Given the description of an element on the screen output the (x, y) to click on. 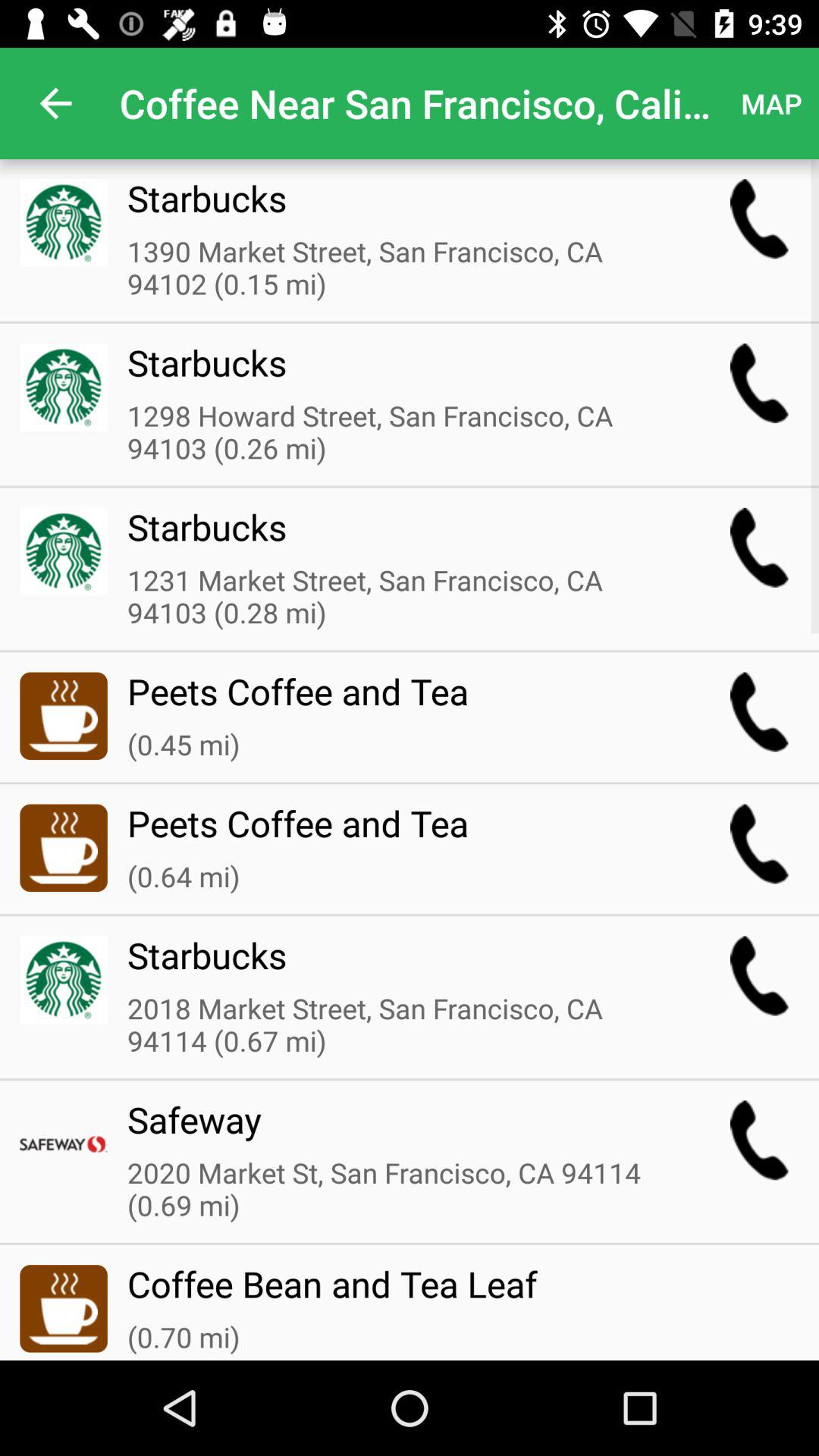
click 2020 market st item (398, 1189)
